Given the description of an element on the screen output the (x, y) to click on. 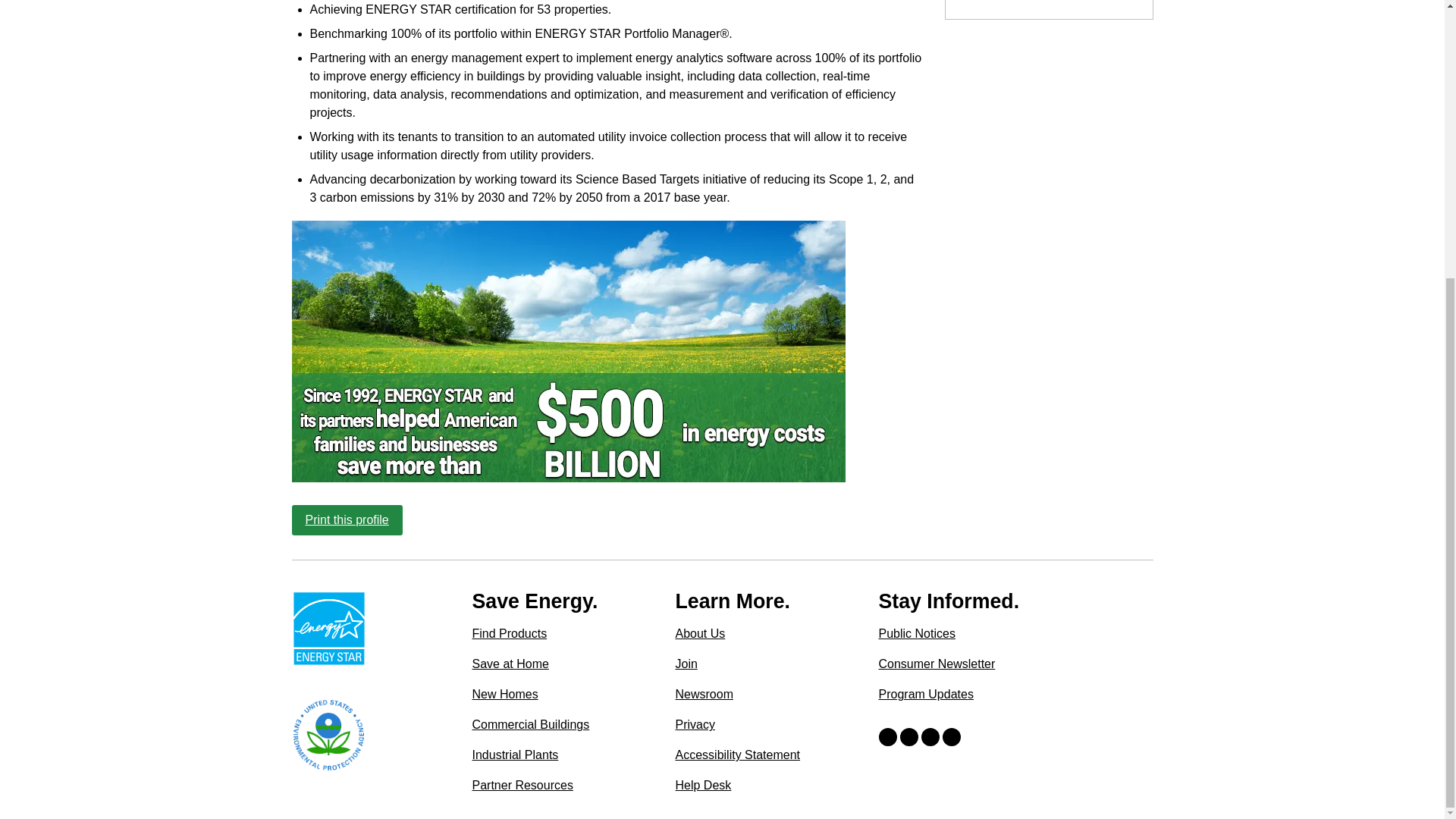
Home (328, 628)
